Given the description of an element on the screen output the (x, y) to click on. 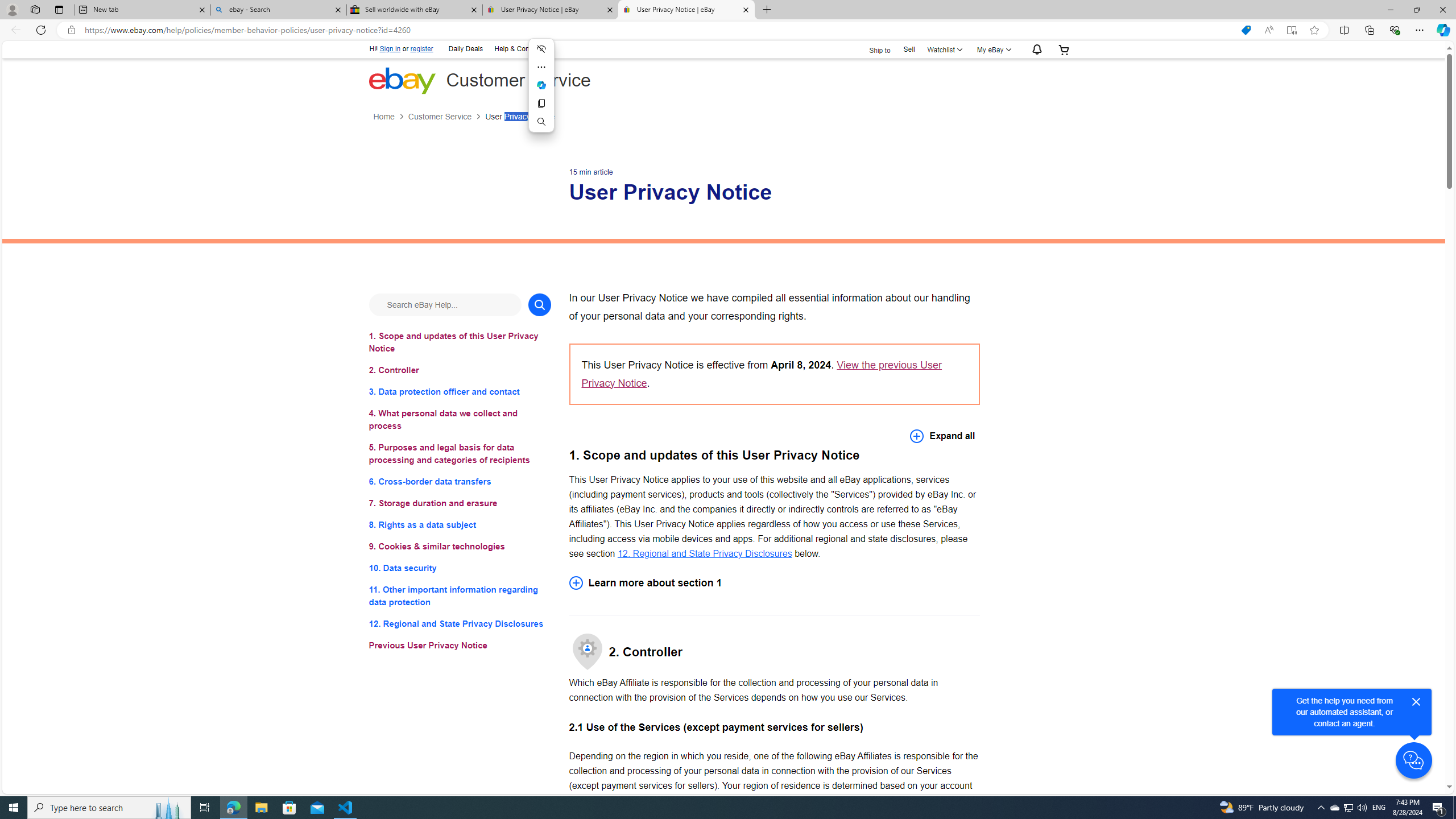
Enter Immersive Reader (F9) (1291, 29)
Copy (540, 103)
